Given the description of an element on the screen output the (x, y) to click on. 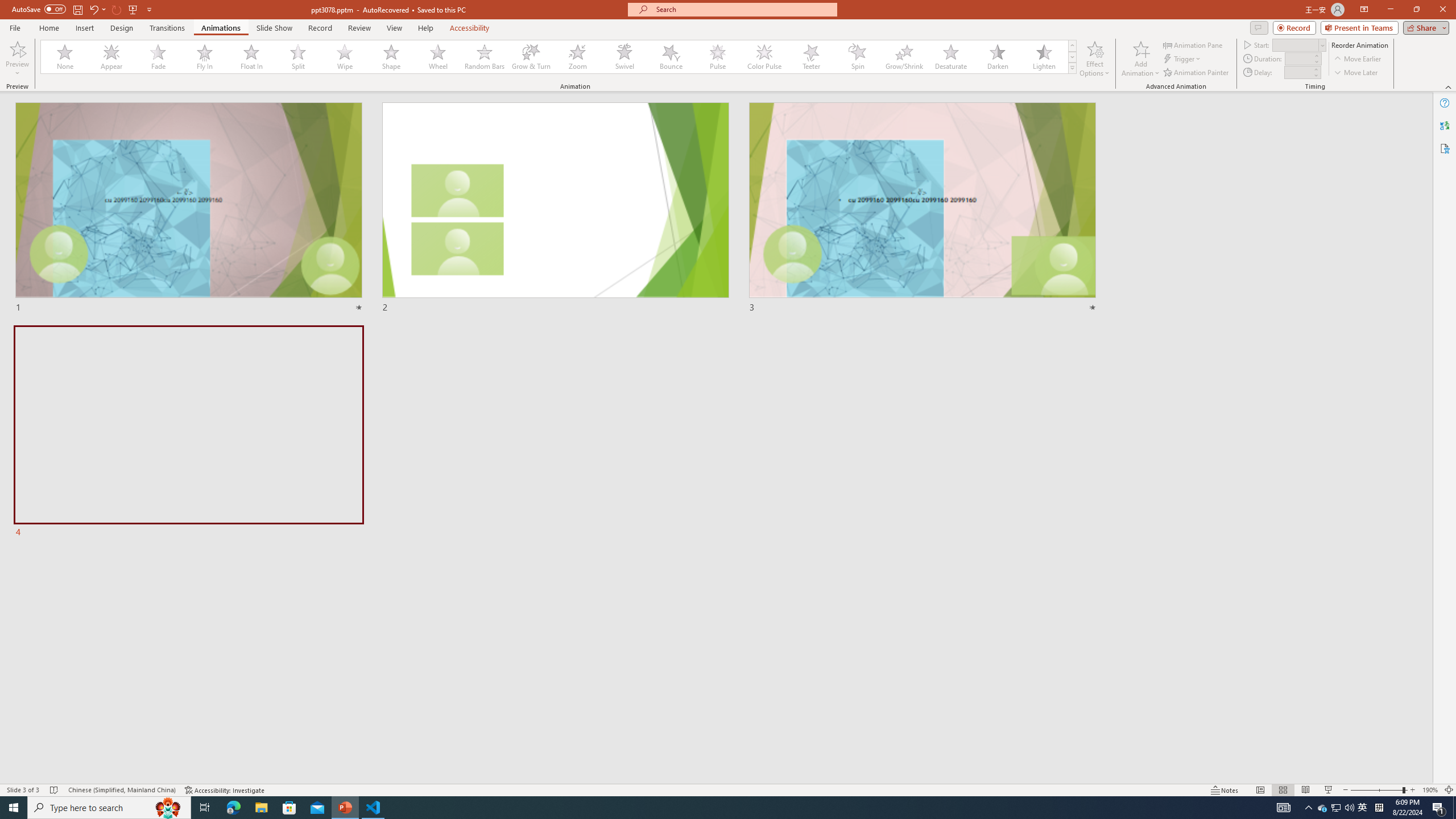
Animation Delay (1297, 72)
Desaturate (950, 56)
Swivel (624, 56)
Animation Pane (1193, 44)
Zoom 190% (1430, 790)
